Given the description of an element on the screen output the (x, y) to click on. 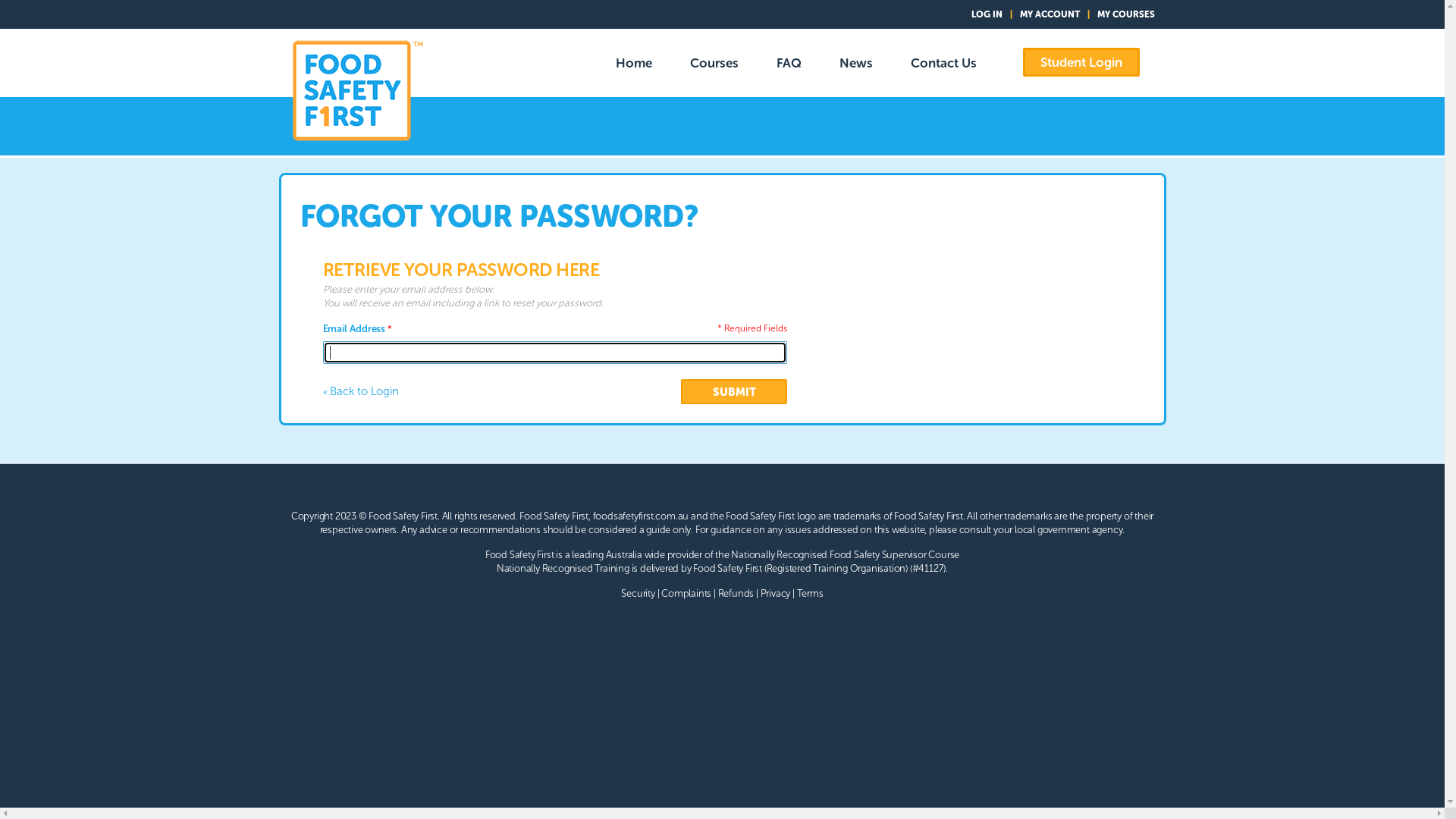
Courses Element type: text (713, 62)
Refunds Element type: text (736, 593)
SUBMIT Element type: text (733, 391)
Home Element type: text (633, 62)
Contact Us Element type: text (943, 62)
MY ACCOUNT Element type: text (1049, 14)
News Element type: text (855, 62)
Student Login Element type: text (1080, 61)
Terms Element type: text (810, 593)
Privacy Element type: text (775, 593)
MY COURSES Element type: text (1125, 14)
Food Safety Supervisor Course Element type: text (894, 554)
Complaints Element type: text (686, 593)
Security Element type: text (637, 593)
LOG IN Element type: text (985, 14)
FAQ Element type: text (787, 62)
